Given the description of an element on the screen output the (x, y) to click on. 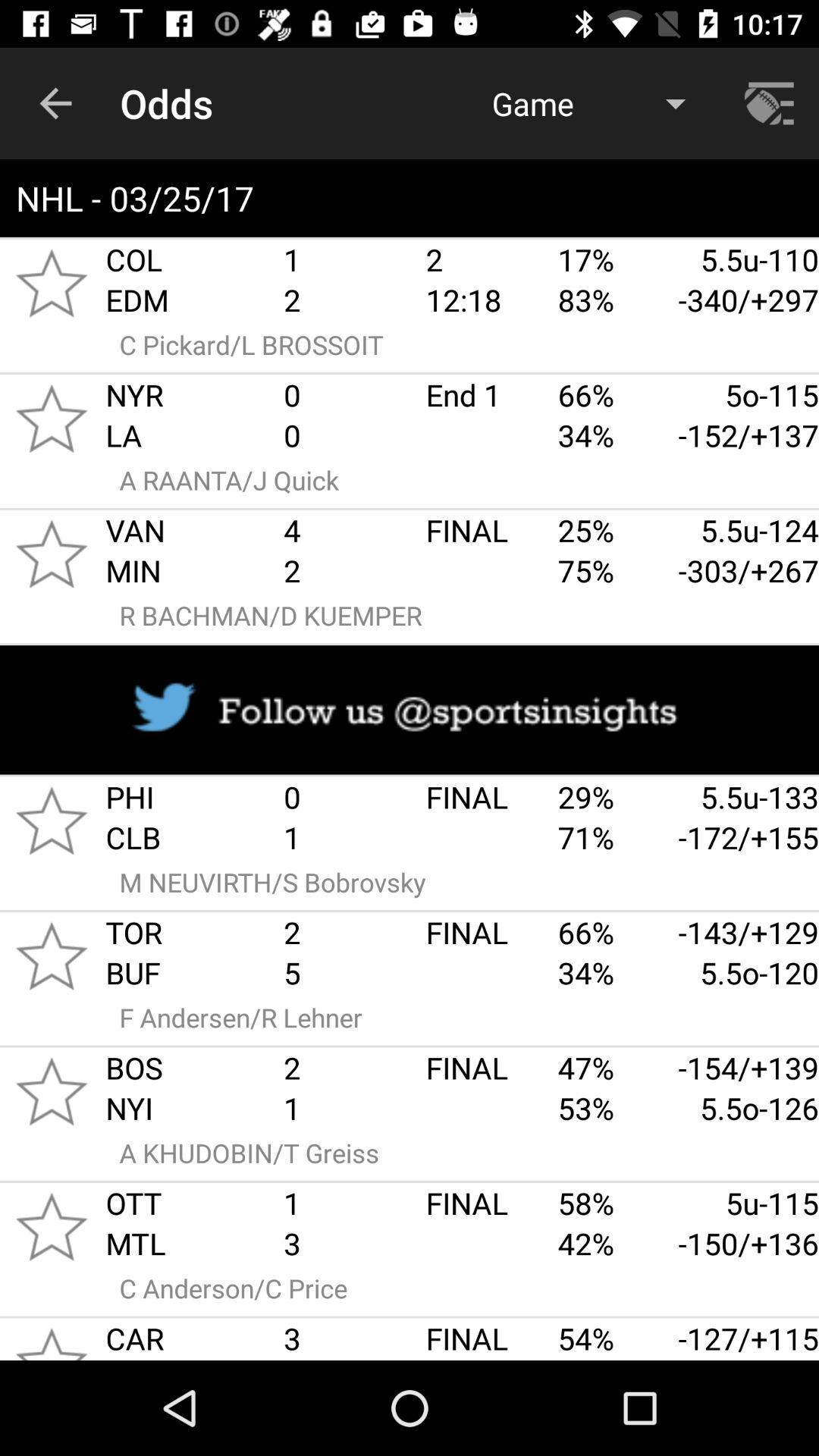
add to favourites (51, 283)
